Given the description of an element on the screen output the (x, y) to click on. 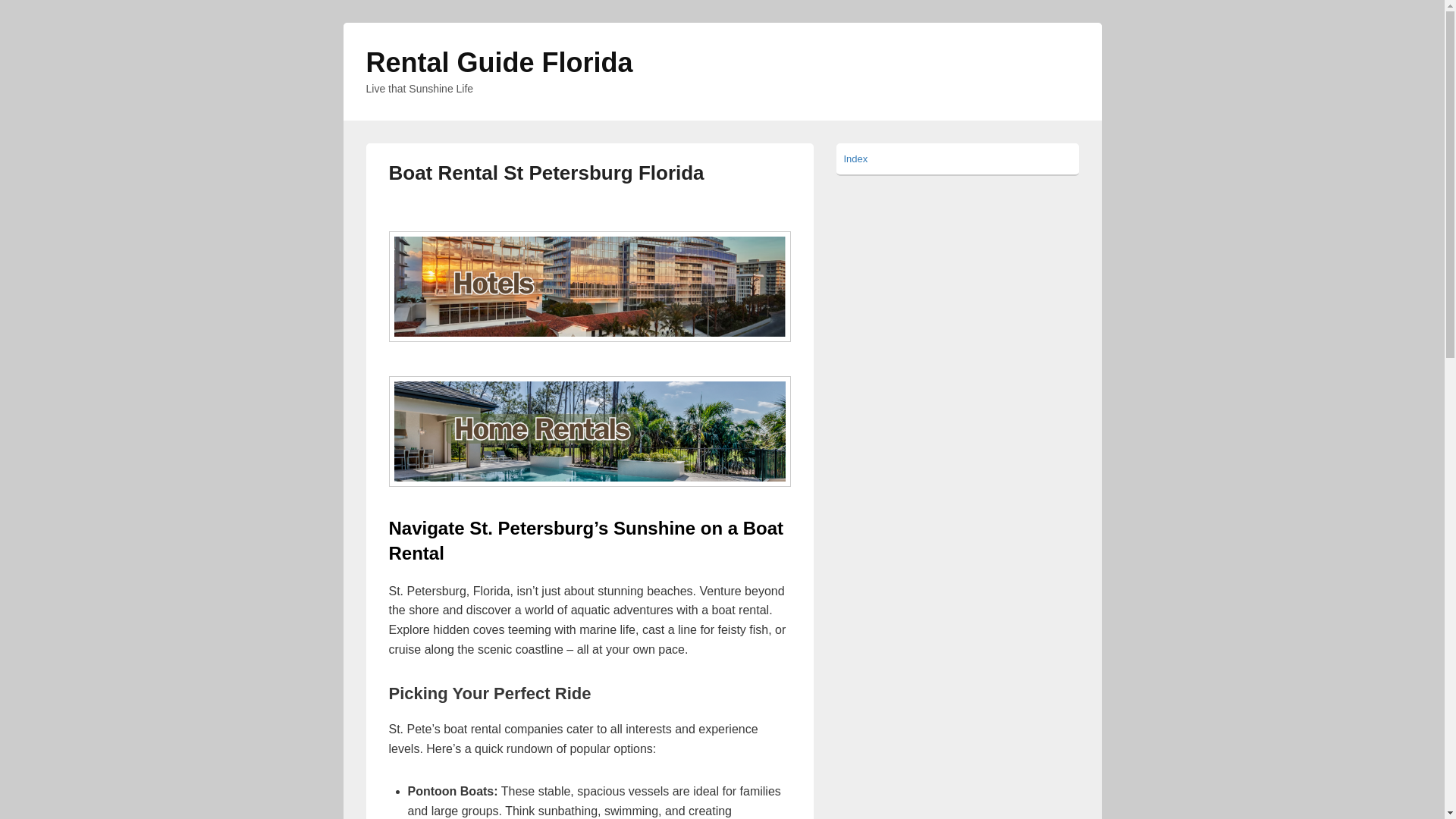
Rental Guide Florida (498, 61)
Florida Home Rentals (589, 430)
Index (855, 158)
